Given the description of an element on the screen output the (x, y) to click on. 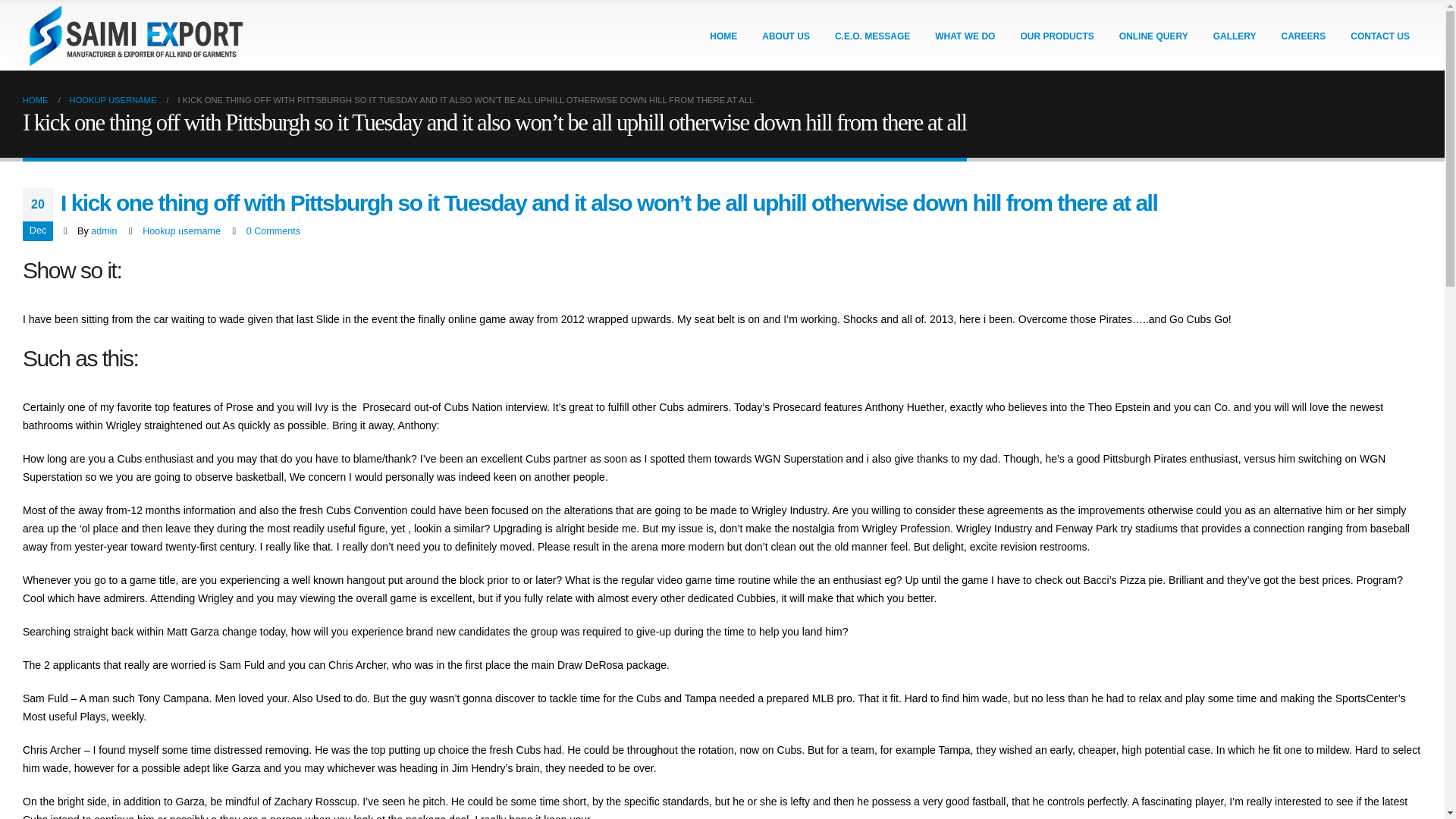
0 Comments (272, 231)
OUR PRODUCTS (1056, 36)
ONLINE QUERY (1152, 36)
Go to Home Page (35, 99)
HOOKUP USERNAME (113, 99)
0 Comments (272, 231)
CONTACT US (1380, 36)
Hookup username (181, 231)
GALLERY (1234, 36)
Posts by admin (103, 231)
CAREERS (1303, 36)
HOME (35, 99)
admin (103, 231)
WHAT WE DO (965, 36)
C.E.O. MESSAGE (871, 36)
